Given the description of an element on the screen output the (x, y) to click on. 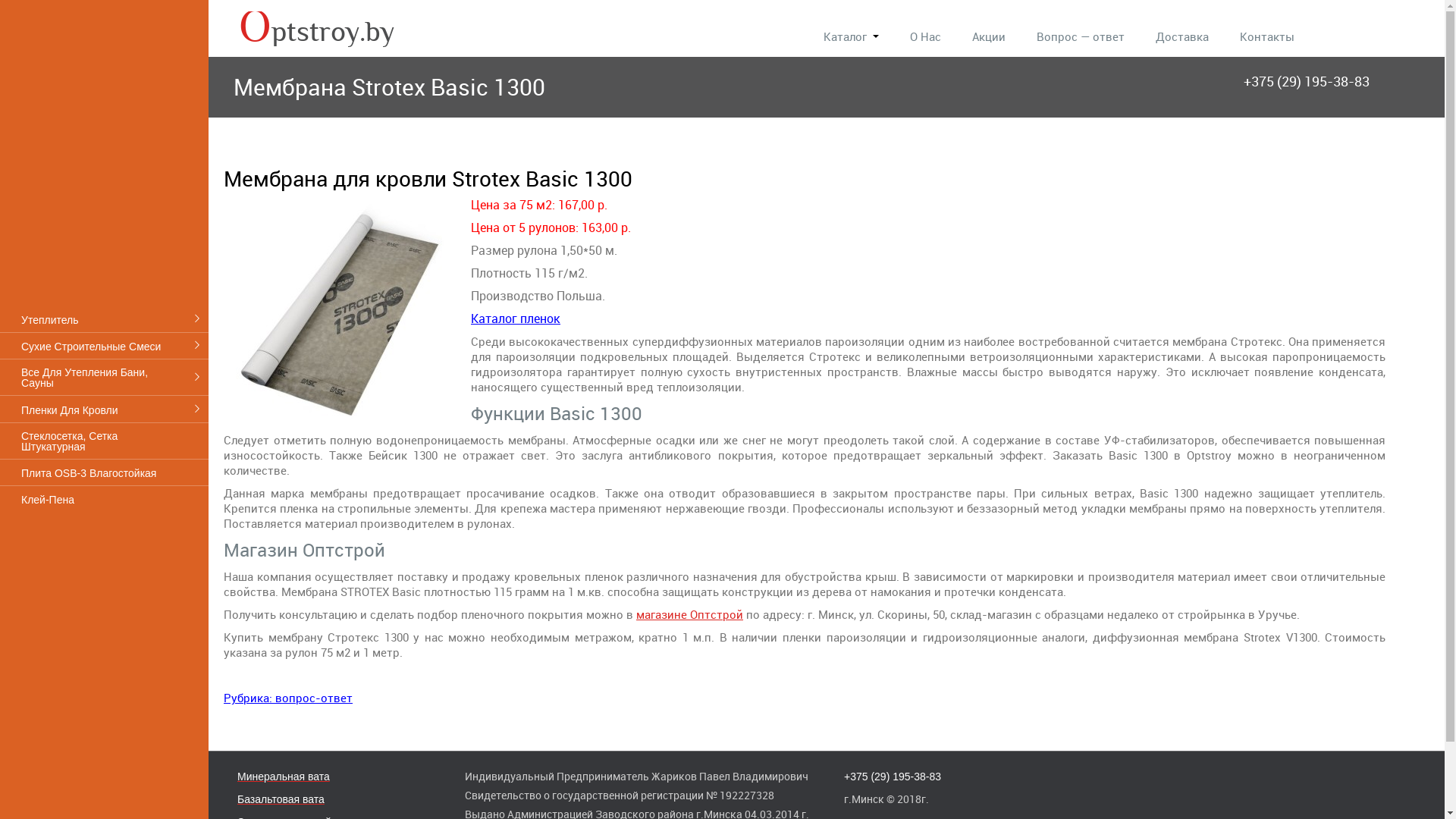
Optstroy.by Element type: text (324, 29)
+375 (29) 195-38-83 Element type: text (892, 776)
+375 (29) 195-38-83 Element type: text (1306, 80)
